Given the description of an element on the screen output the (x, y) to click on. 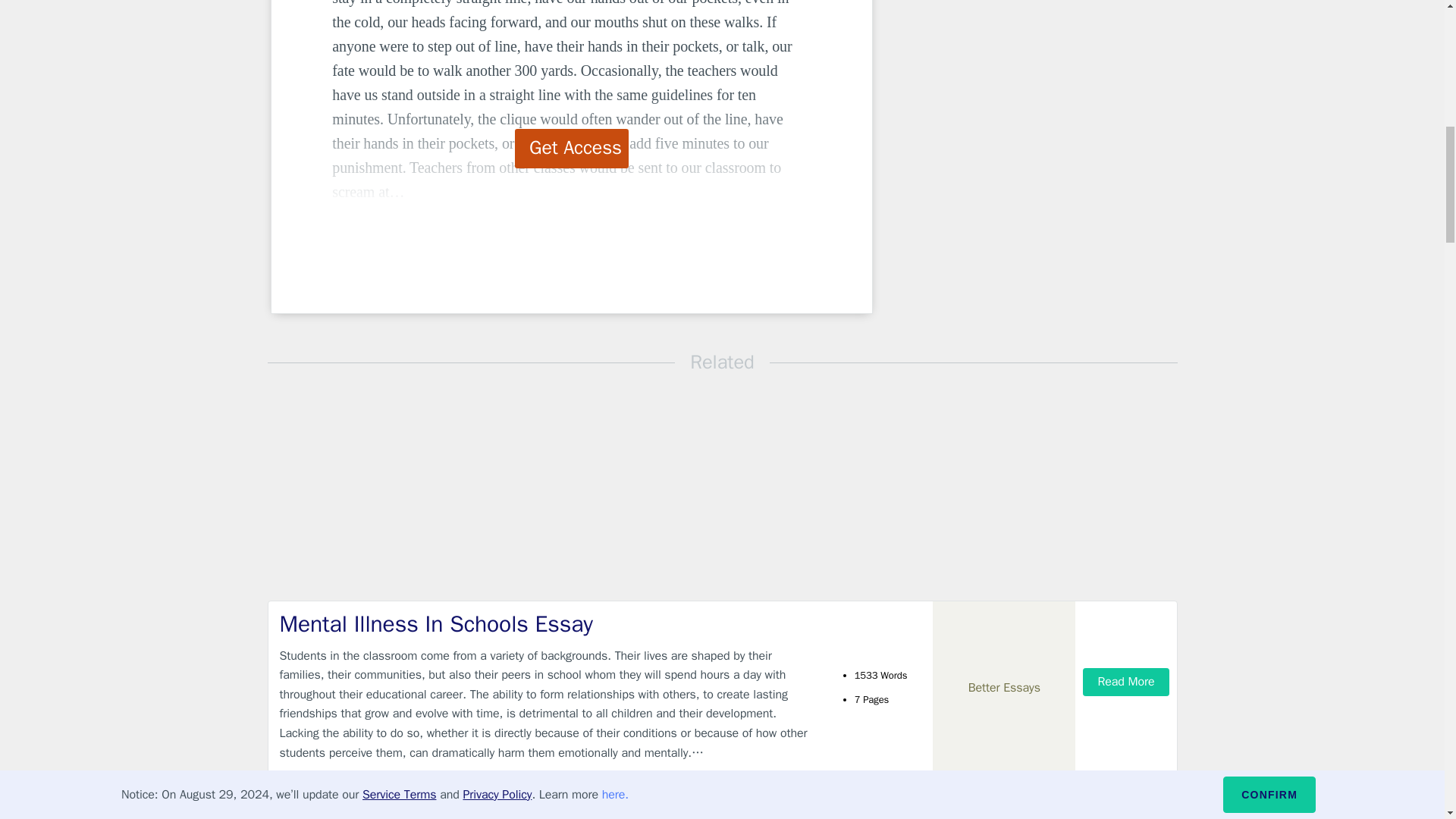
Essay about Charter Schools (548, 810)
Read More (1126, 682)
Mental Illness In Schools Essay (548, 624)
Get Access (571, 148)
